Given the description of an element on the screen output the (x, y) to click on. 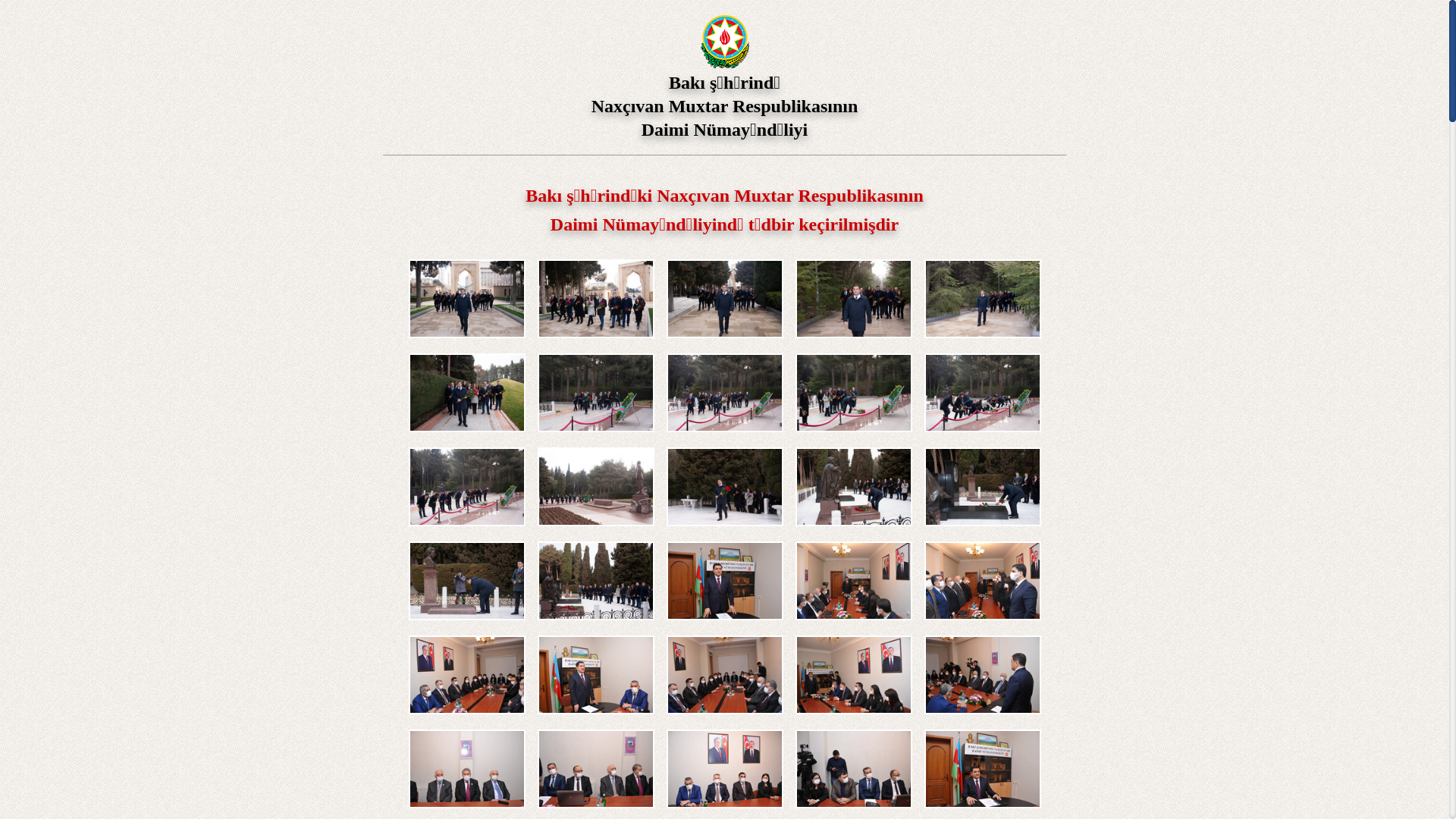
Click to enlarge Element type: hover (981, 768)
Click to enlarge Element type: hover (465, 674)
Click to enlarge Element type: hover (852, 392)
Click to enlarge Element type: hover (852, 674)
Click to enlarge Element type: hover (981, 298)
Click to enlarge Element type: hover (852, 486)
Click to enlarge Element type: hover (723, 768)
Click to enlarge Element type: hover (723, 674)
Click to enlarge Element type: hover (465, 768)
Click to enlarge Element type: hover (594, 298)
Click to enlarge Element type: hover (723, 486)
Click to enlarge Element type: hover (465, 392)
Click to enlarge Element type: hover (723, 580)
Click to enlarge Element type: hover (594, 486)
Click to enlarge Element type: hover (594, 392)
Click to enlarge Element type: hover (723, 392)
Click to enlarge Element type: hover (723, 298)
Click to enlarge Element type: hover (465, 580)
Click to enlarge Element type: hover (852, 298)
Click to enlarge Element type: hover (465, 486)
Click to enlarge Element type: hover (981, 486)
Click to enlarge Element type: hover (981, 580)
Click to enlarge Element type: hover (852, 580)
Click to enlarge Element type: hover (594, 674)
Click to enlarge Element type: hover (981, 392)
Click to enlarge Element type: hover (852, 768)
Click to enlarge Element type: hover (981, 674)
Click to enlarge Element type: hover (594, 580)
Click to enlarge Element type: hover (594, 768)
Click to enlarge Element type: hover (465, 298)
